Given the description of an element on the screen output the (x, y) to click on. 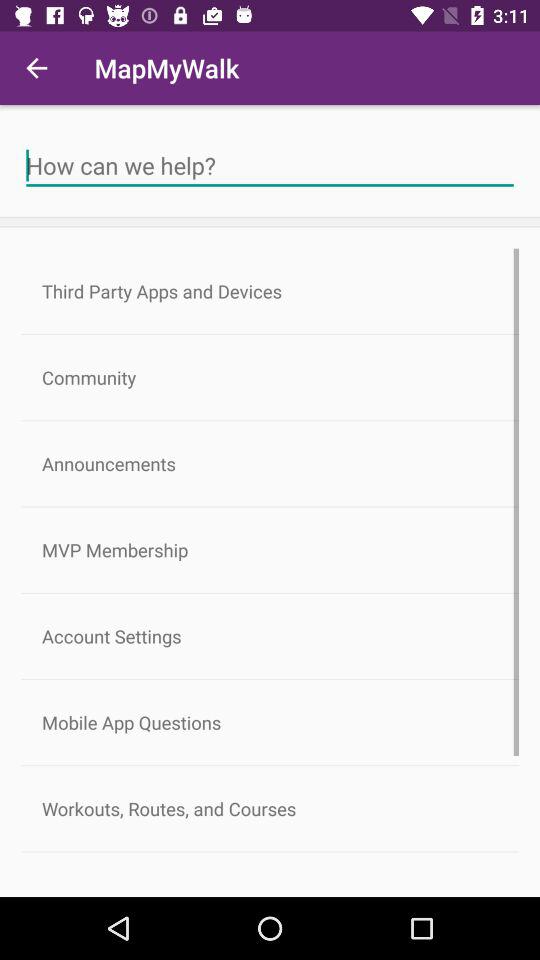
launch item above mvp membership item (269, 463)
